Given the description of an element on the screen output the (x, y) to click on. 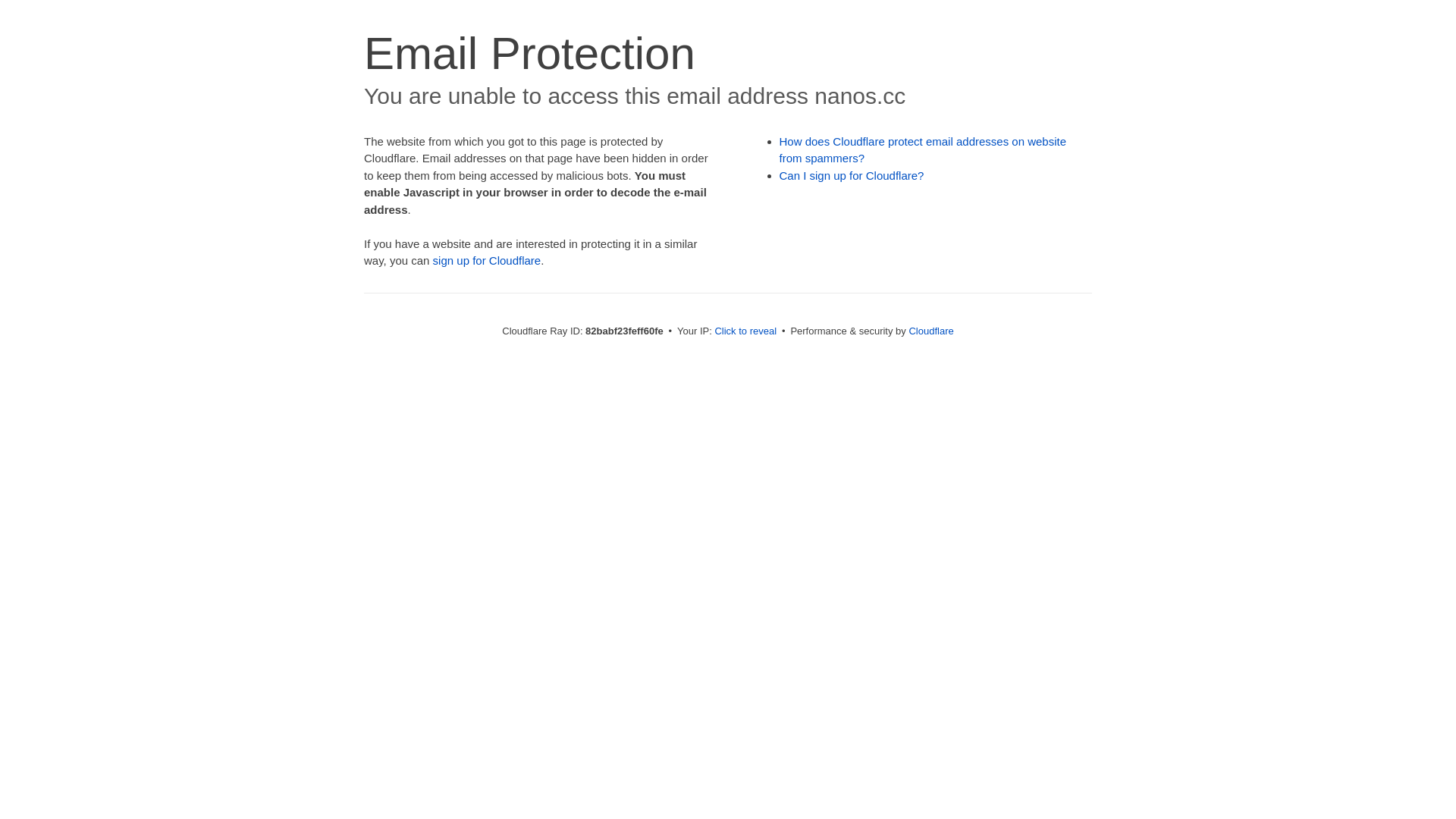
Click to reveal Element type: text (745, 330)
sign up for Cloudflare Element type: text (487, 260)
Cloudflare Element type: text (930, 330)
Can I sign up for Cloudflare? Element type: text (851, 175)
